Given the description of an element on the screen output the (x, y) to click on. 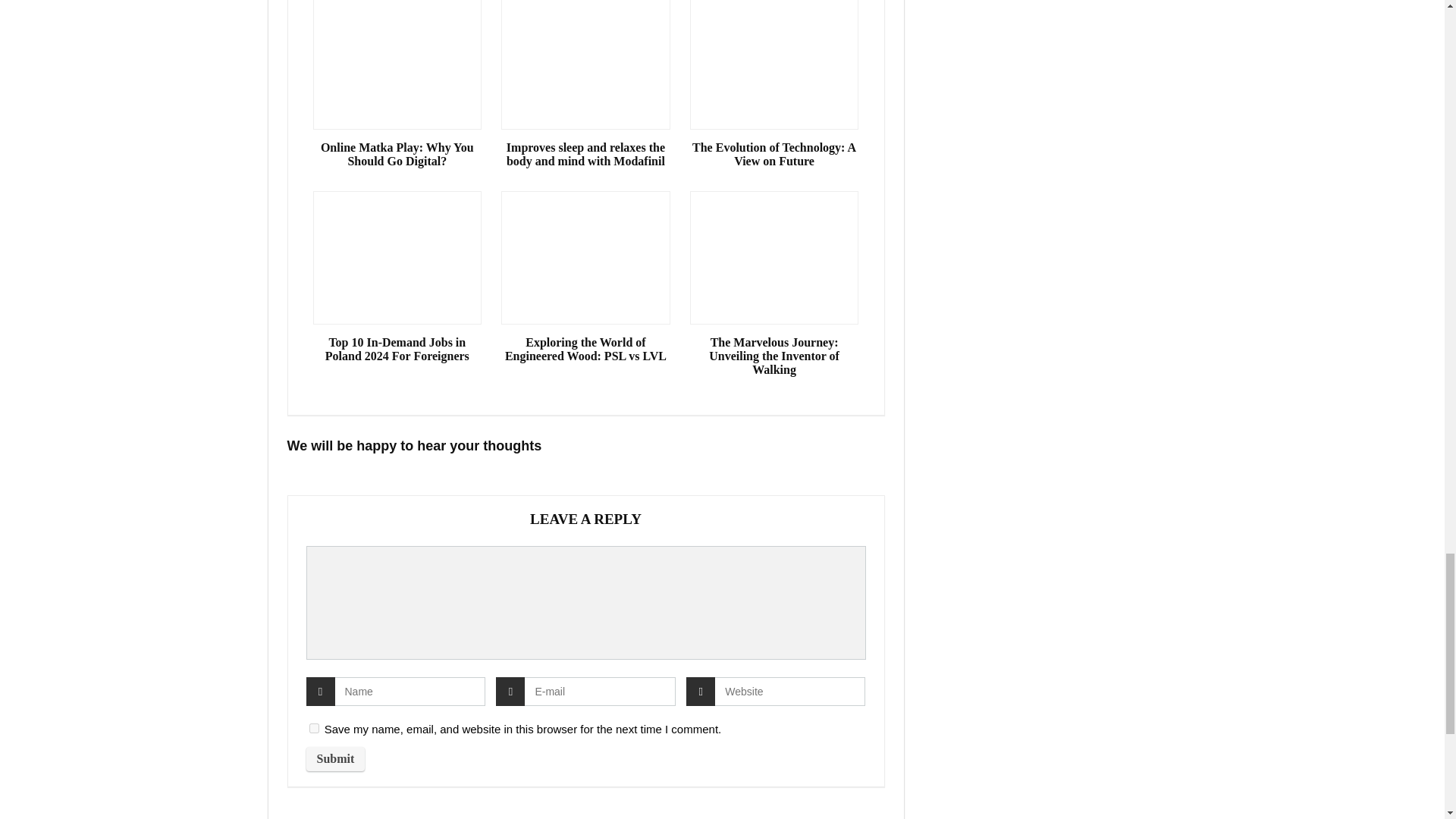
The Marvelous Journey: Unveiling the Inventor of Walking (774, 355)
Top 10 In-Demand Jobs in Poland 2024  For Foreigners (397, 349)
The Evolution of Technology: A View on Future (774, 154)
Online Matka Play: Why You Should Go Digital? (397, 154)
yes (313, 728)
Improves sleep and relaxes the body and mind with Modafinil (584, 154)
Exploring the World of Engineered Wood: PSL vs LVL (584, 349)
Submit (335, 758)
